Given the description of an element on the screen output the (x, y) to click on. 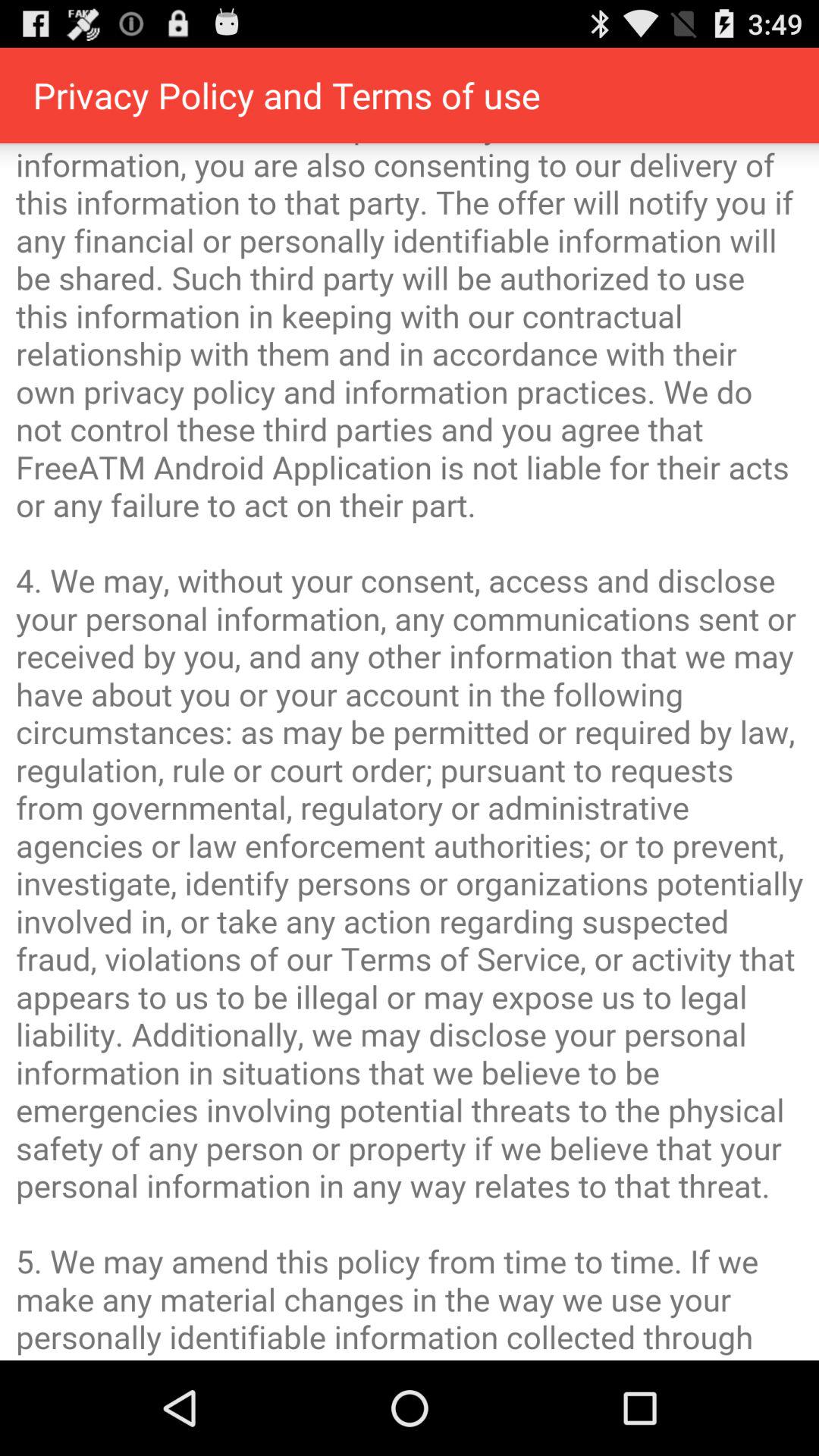
description (409, 751)
